Given the description of an element on the screen output the (x, y) to click on. 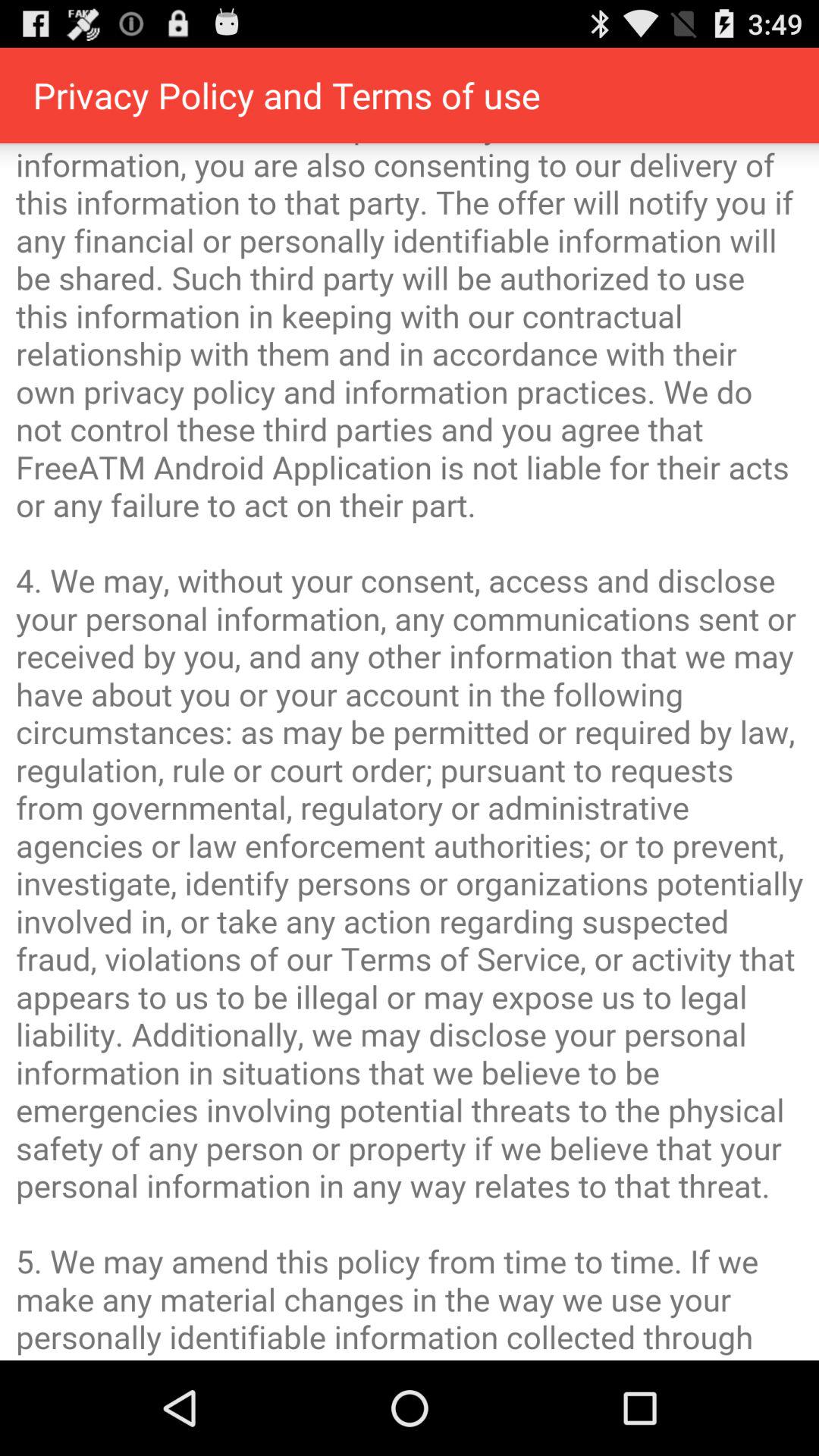
description (409, 751)
